Given the description of an element on the screen output the (x, y) to click on. 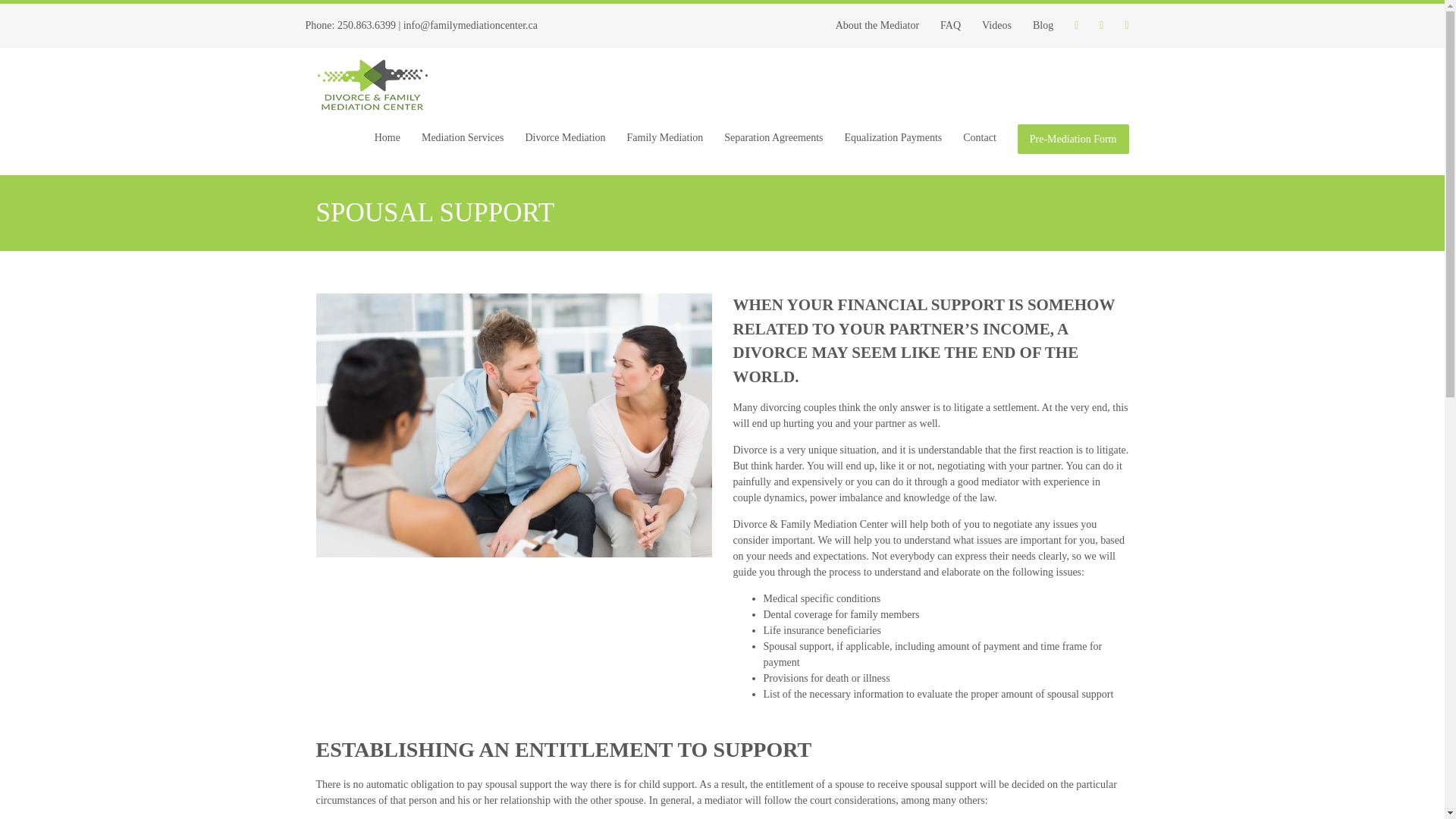
Divorce Mediation (564, 137)
Equalization Payments (893, 137)
Blog (1043, 25)
FAQ (950, 25)
Separation Agreements (772, 137)
Contact (979, 137)
Mediation Services (461, 137)
250.863.6399 (366, 25)
Pre-Mediation Form (1073, 138)
Home (387, 137)
About the Mediator (877, 25)
Family Mediation (664, 137)
Videos (996, 25)
